Given the description of an element on the screen output the (x, y) to click on. 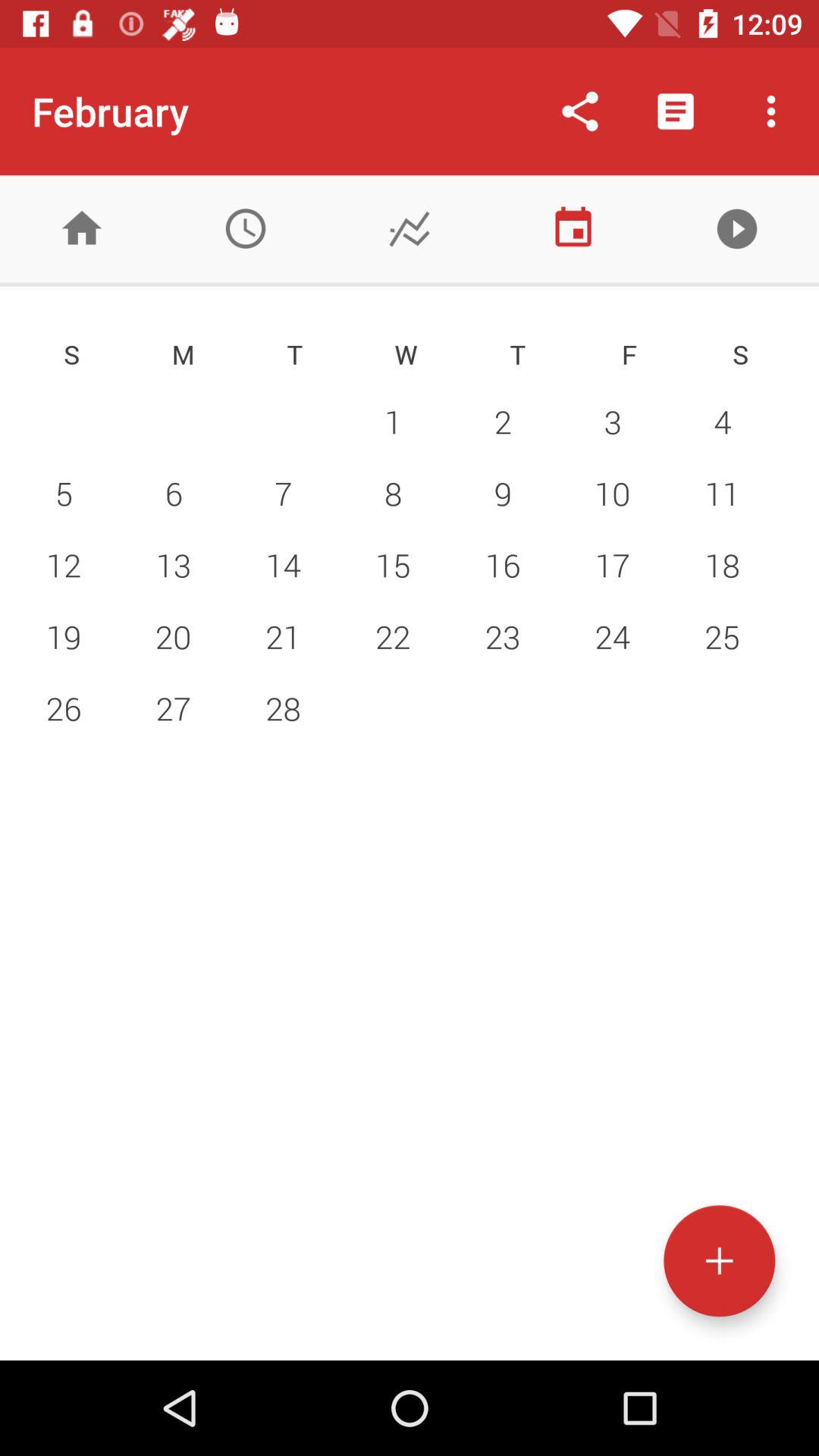
workout reminders (245, 228)
